Given the description of an element on the screen output the (x, y) to click on. 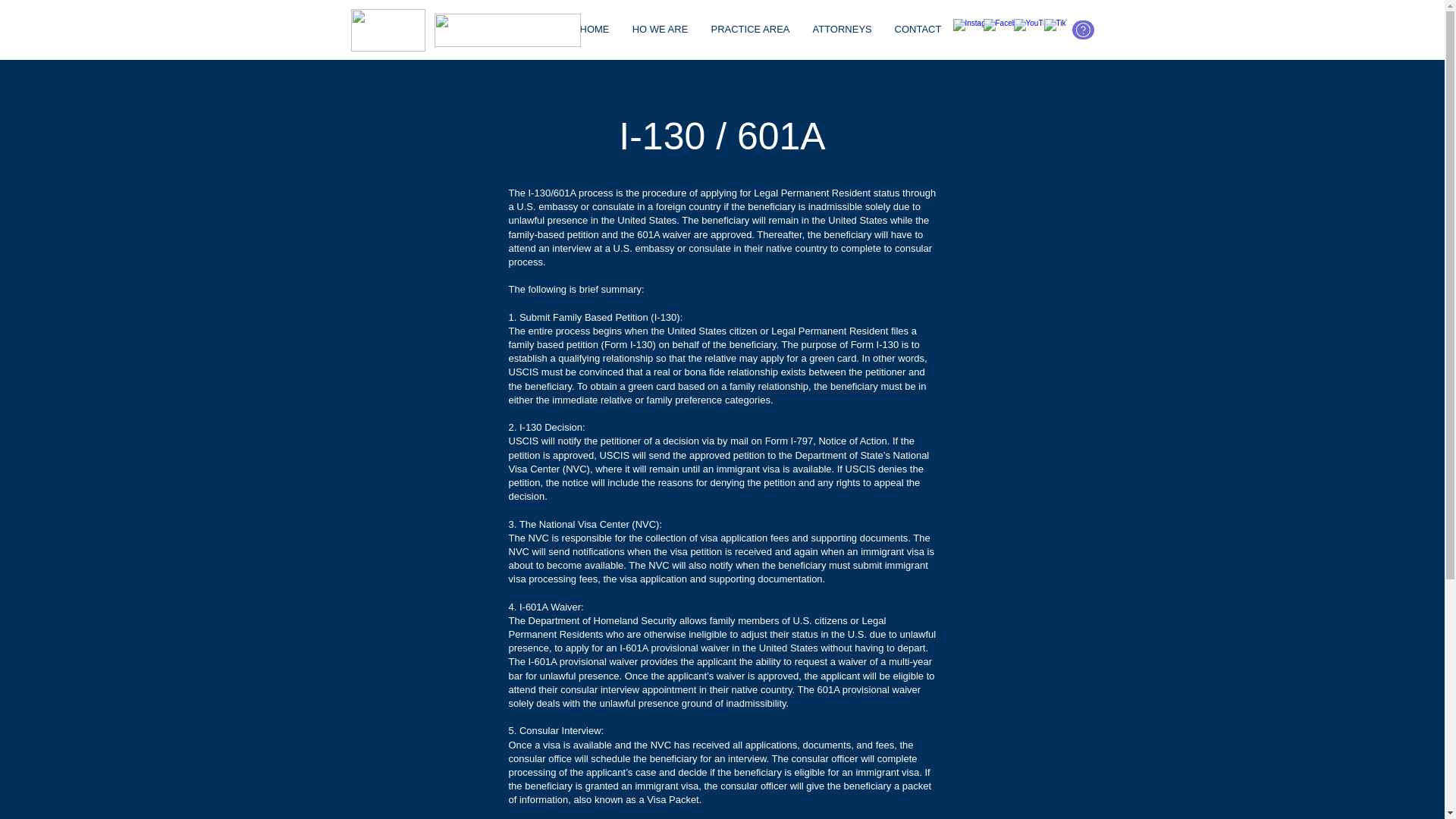
ATTORNEYS (841, 29)
CONTACT (917, 29)
HOME (595, 29)
HO WE ARE (659, 29)
PRACTICE AREA (749, 29)
